Given the description of an element on the screen output the (x, y) to click on. 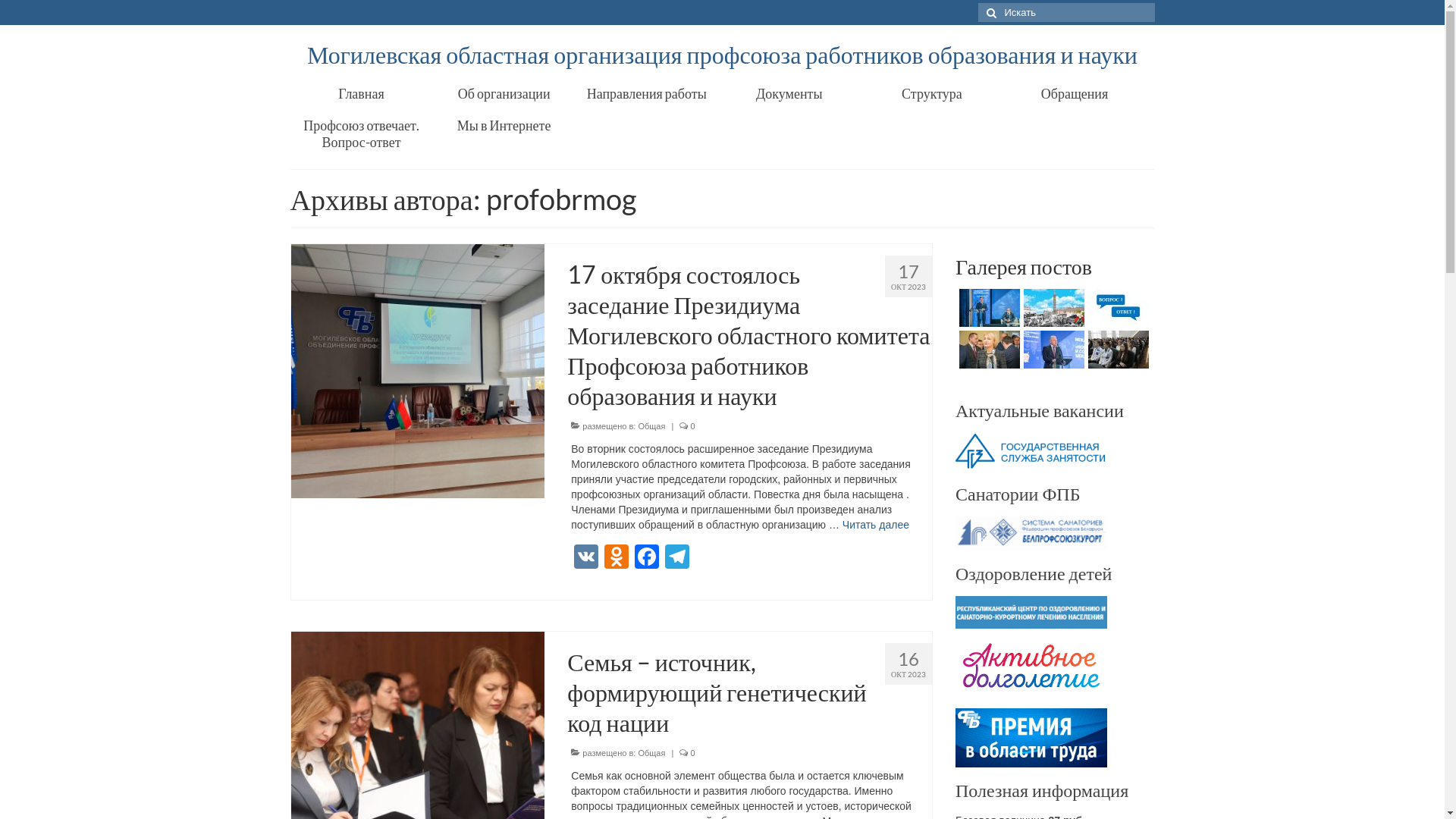
Facebook Element type: text (646, 558)
VK Element type: text (586, 558)
Telegram Element type: text (677, 558)
Odnoklassniki Element type: text (616, 558)
